Given the description of an element on the screen output the (x, y) to click on. 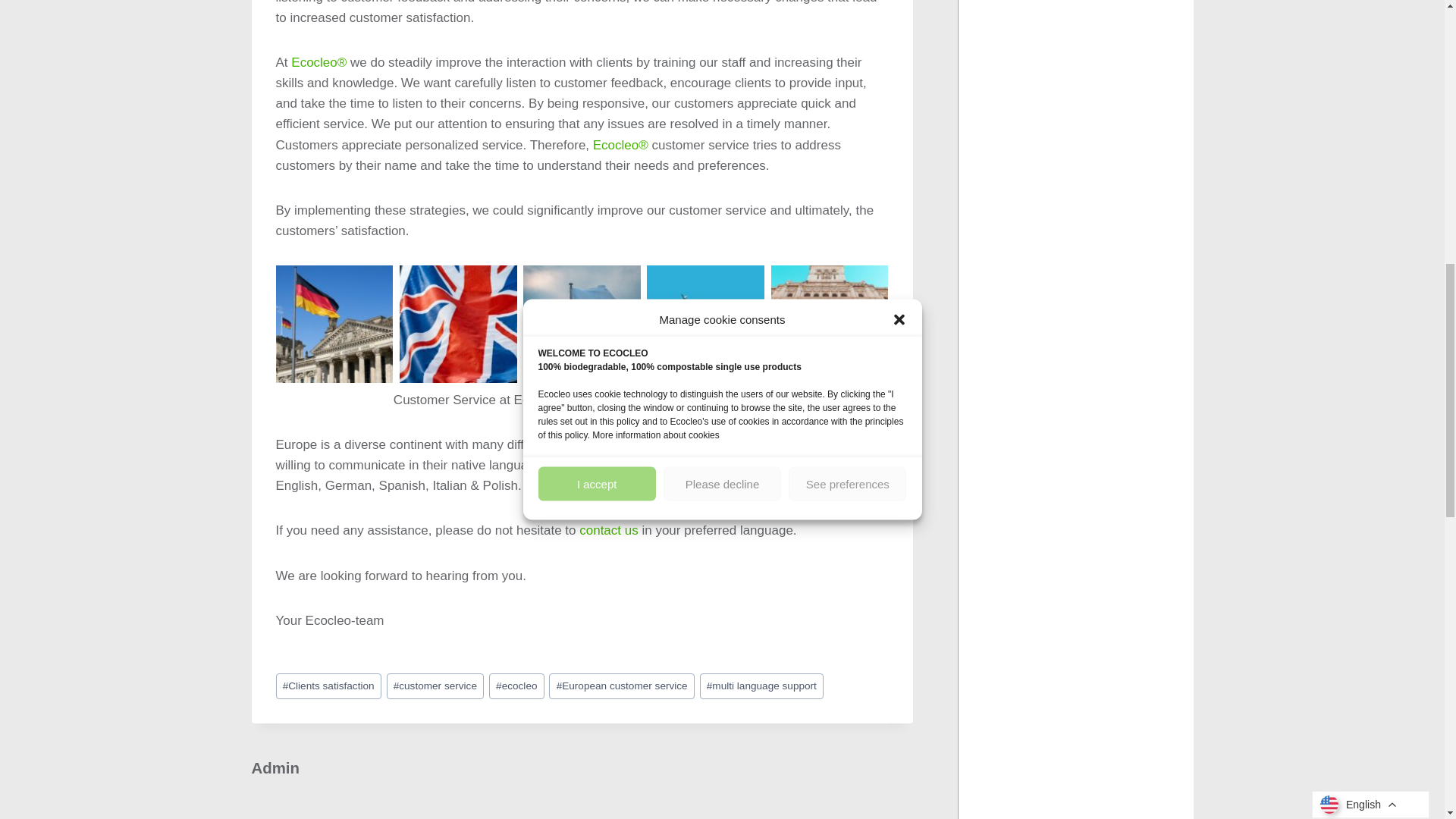
Admin (275, 768)
ecocleo (516, 686)
Posts by Admin (275, 768)
contact us (609, 530)
Clients satisfaction (328, 686)
customer service (435, 686)
European customer service (621, 686)
multi language support (762, 686)
I accept (597, 31)
Please decline (721, 4)
